Given the description of an element on the screen output the (x, y) to click on. 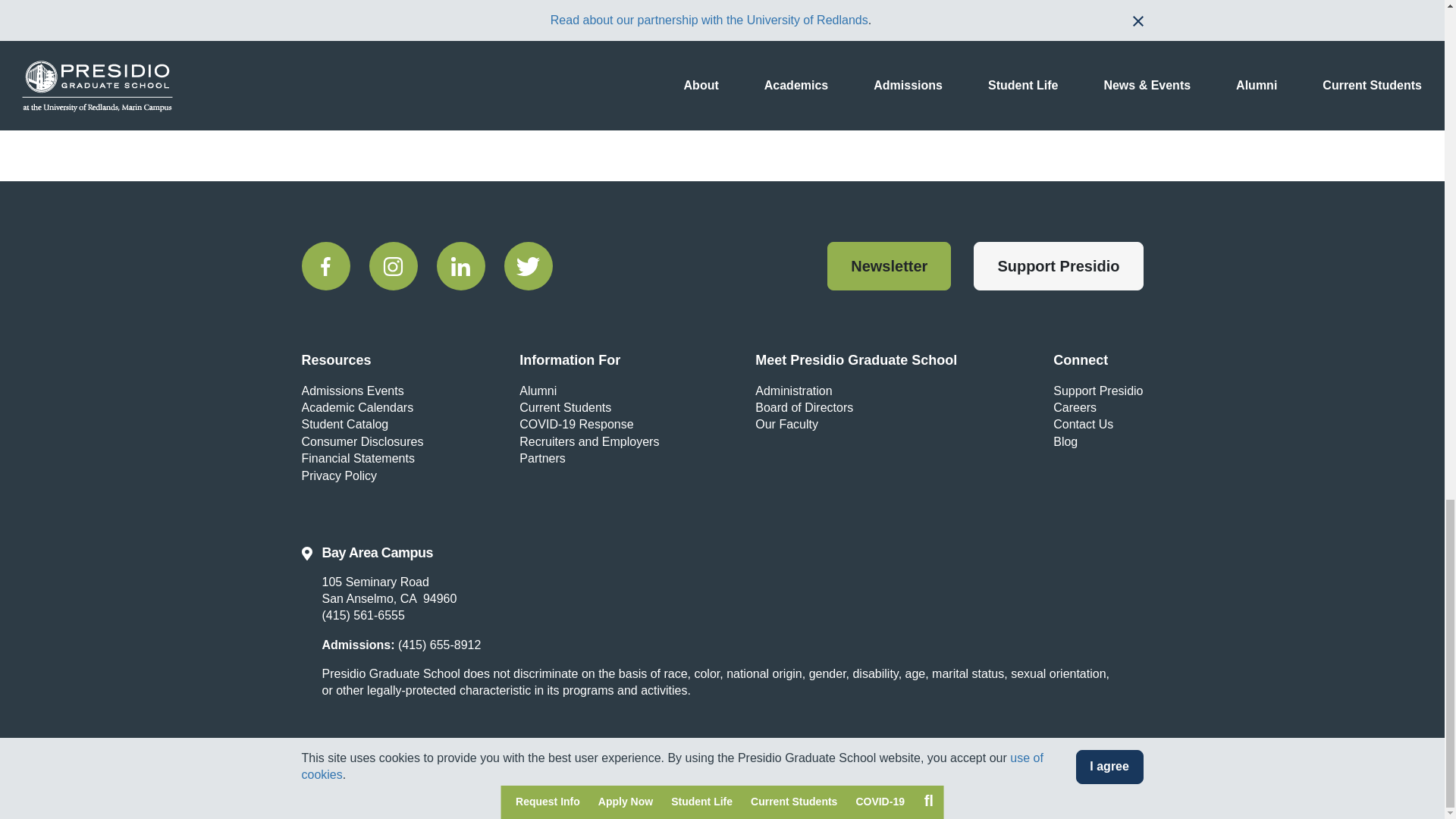
Newsletter (888, 265)
Accessibility Statement (564, 791)
Follow us on Instagram (392, 265)
Support Presidio (1058, 265)
Follow us on LinkedIn (460, 265)
Follow us on Twitter (527, 265)
Like us on Facebook (325, 265)
